Given the description of an element on the screen output the (x, y) to click on. 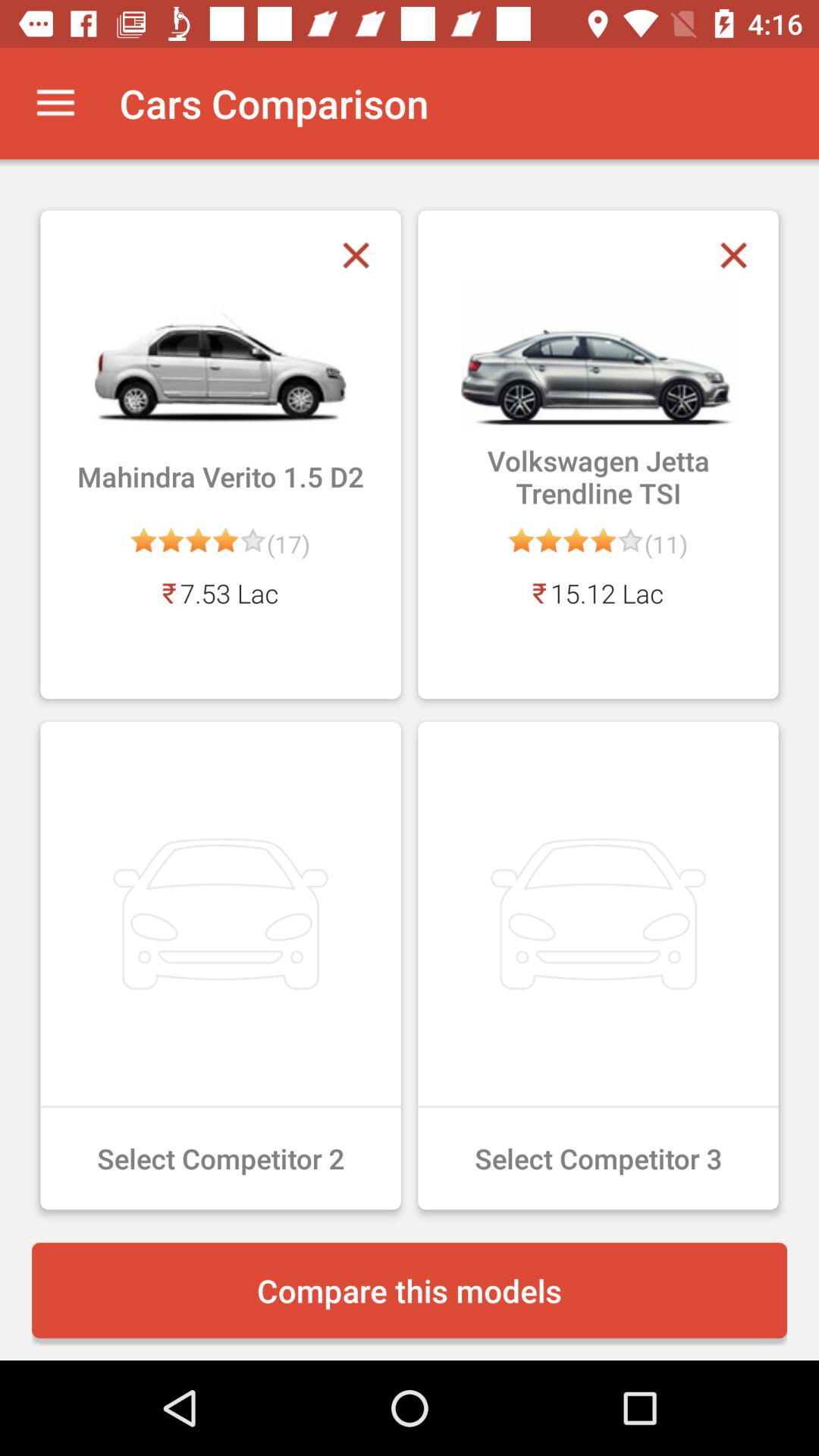
click the item next to cars comparison app (55, 103)
